Given the description of an element on the screen output the (x, y) to click on. 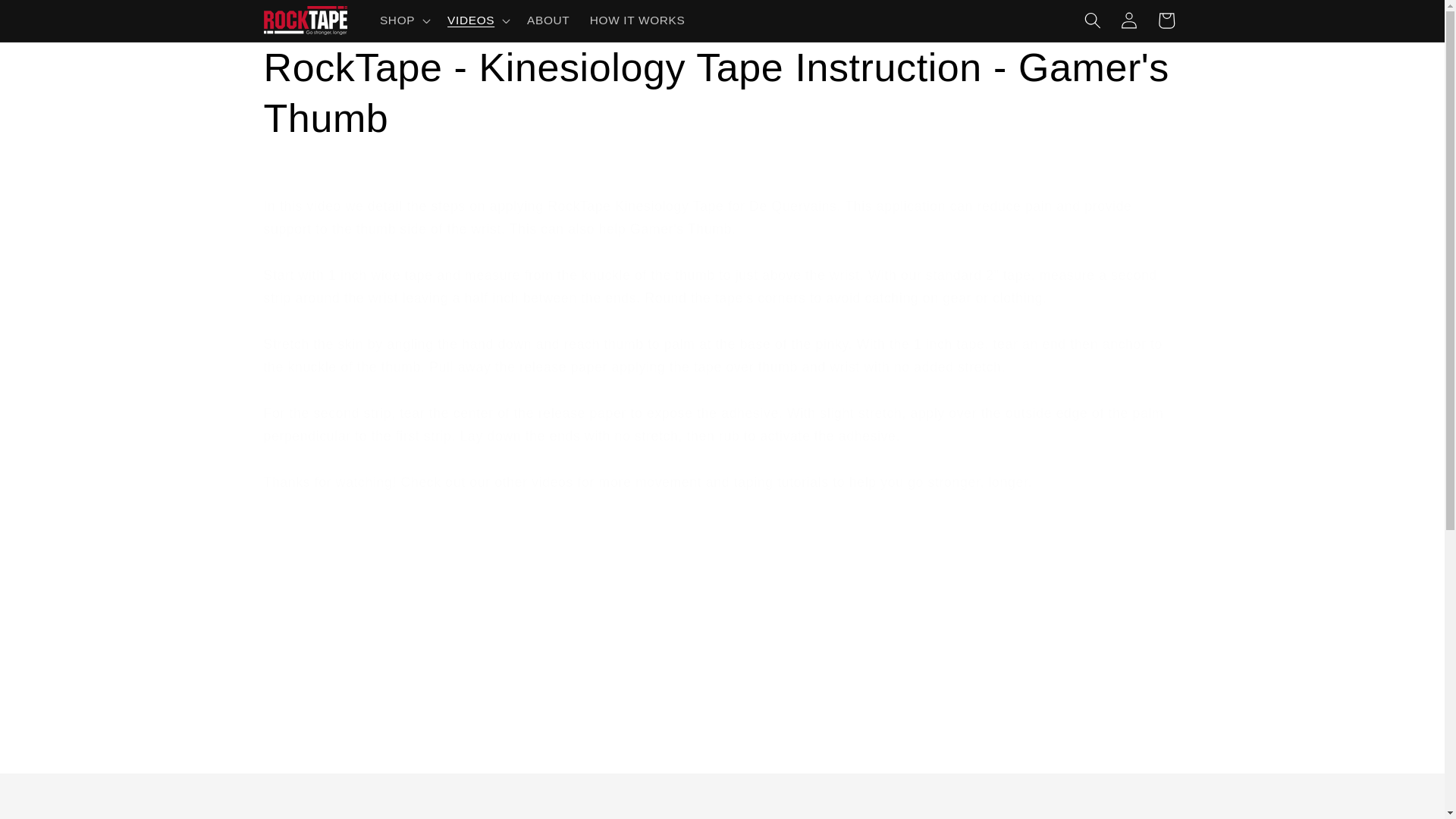
RockTape - Kinesiology Tape Instruction - Gamer's Thumb (721, 93)
YouTube video player (475, 662)
Skip to content (50, 19)
